Given the description of an element on the screen output the (x, y) to click on. 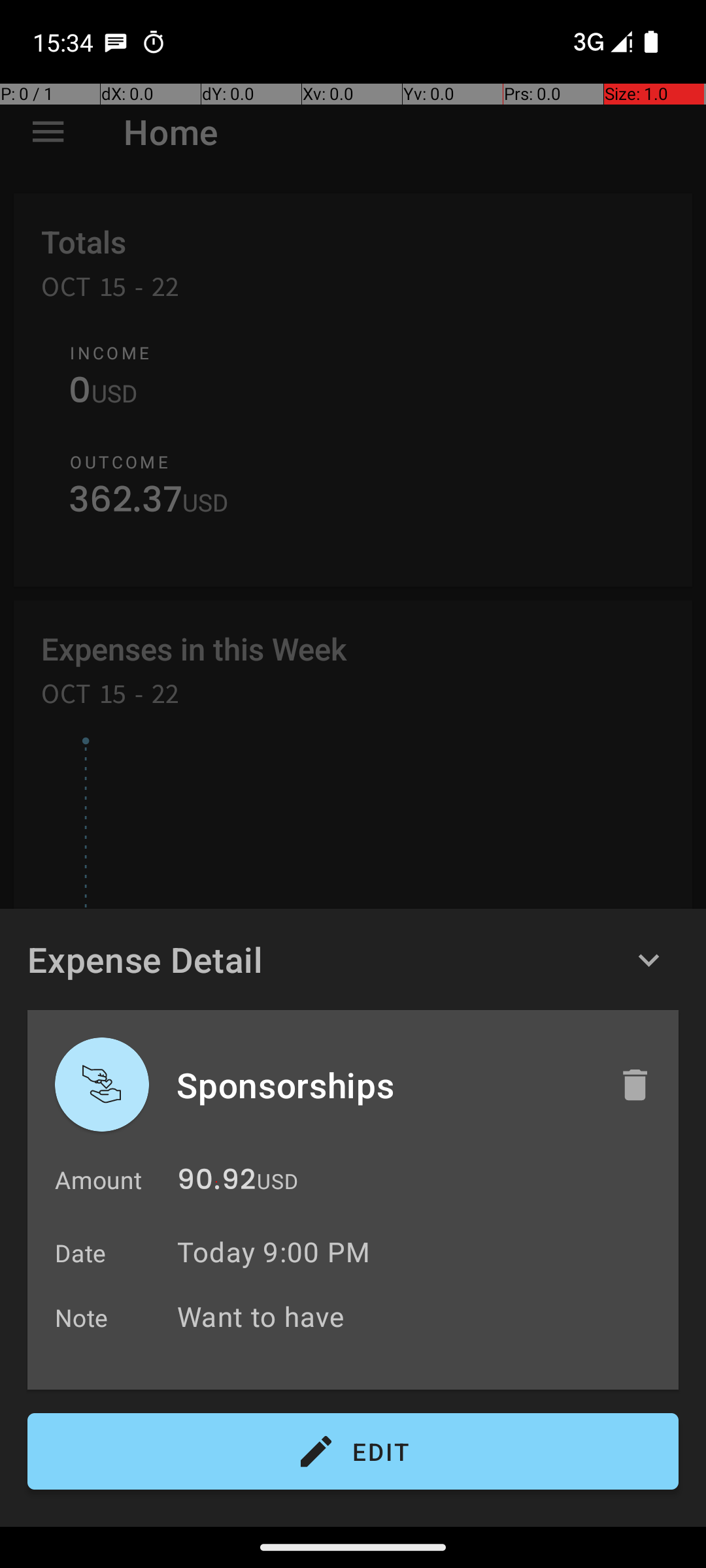
Sponsorships Element type: android.widget.TextView (383, 1084)
90.92 Element type: android.widget.TextView (216, 1182)
